Given the description of an element on the screen output the (x, y) to click on. 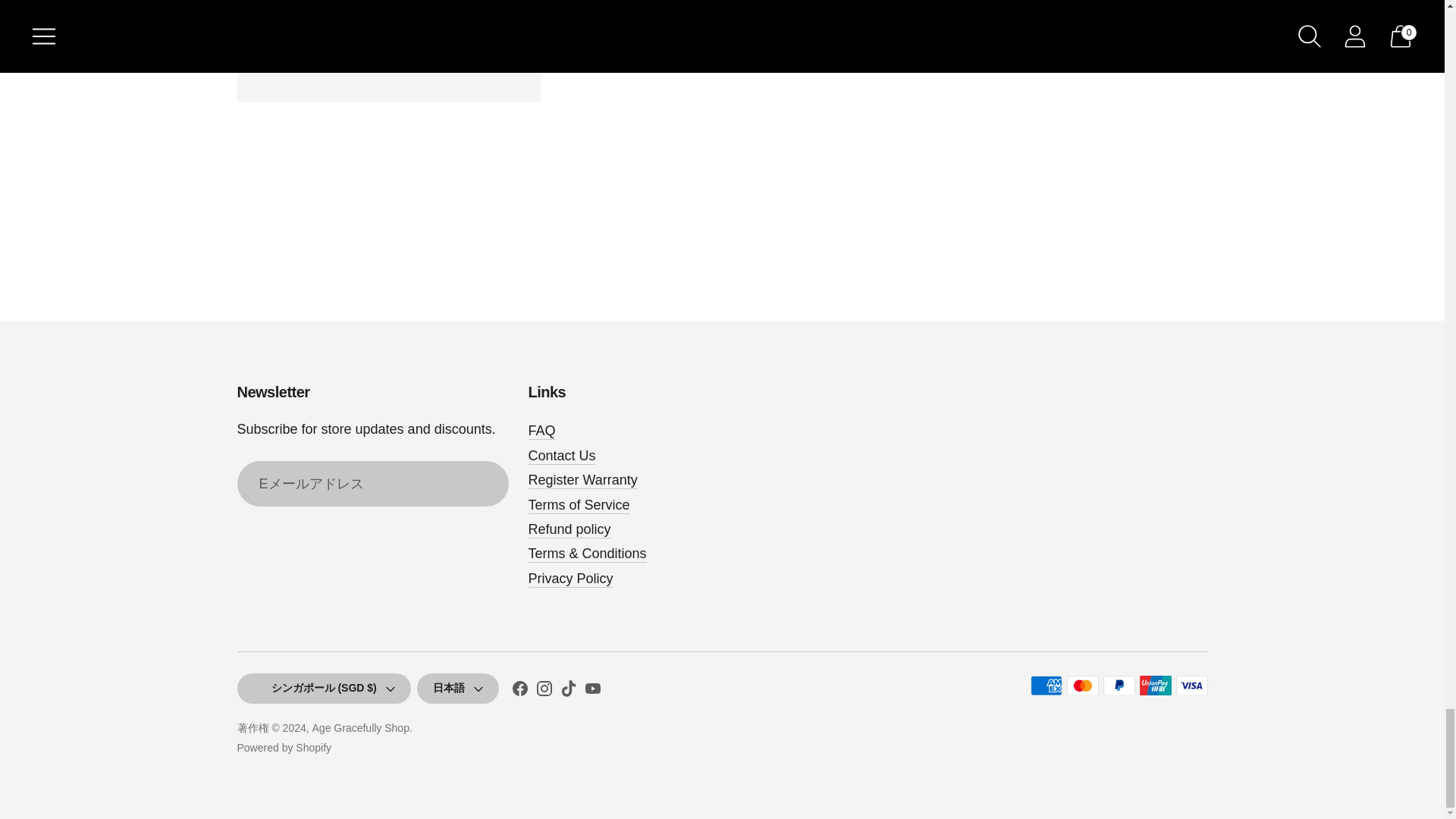
Mastercard (1081, 685)
Union Pay (1154, 685)
American Express (1045, 685)
Visa (1190, 685)
PayPal (1118, 685)
